Given the description of an element on the screen output the (x, y) to click on. 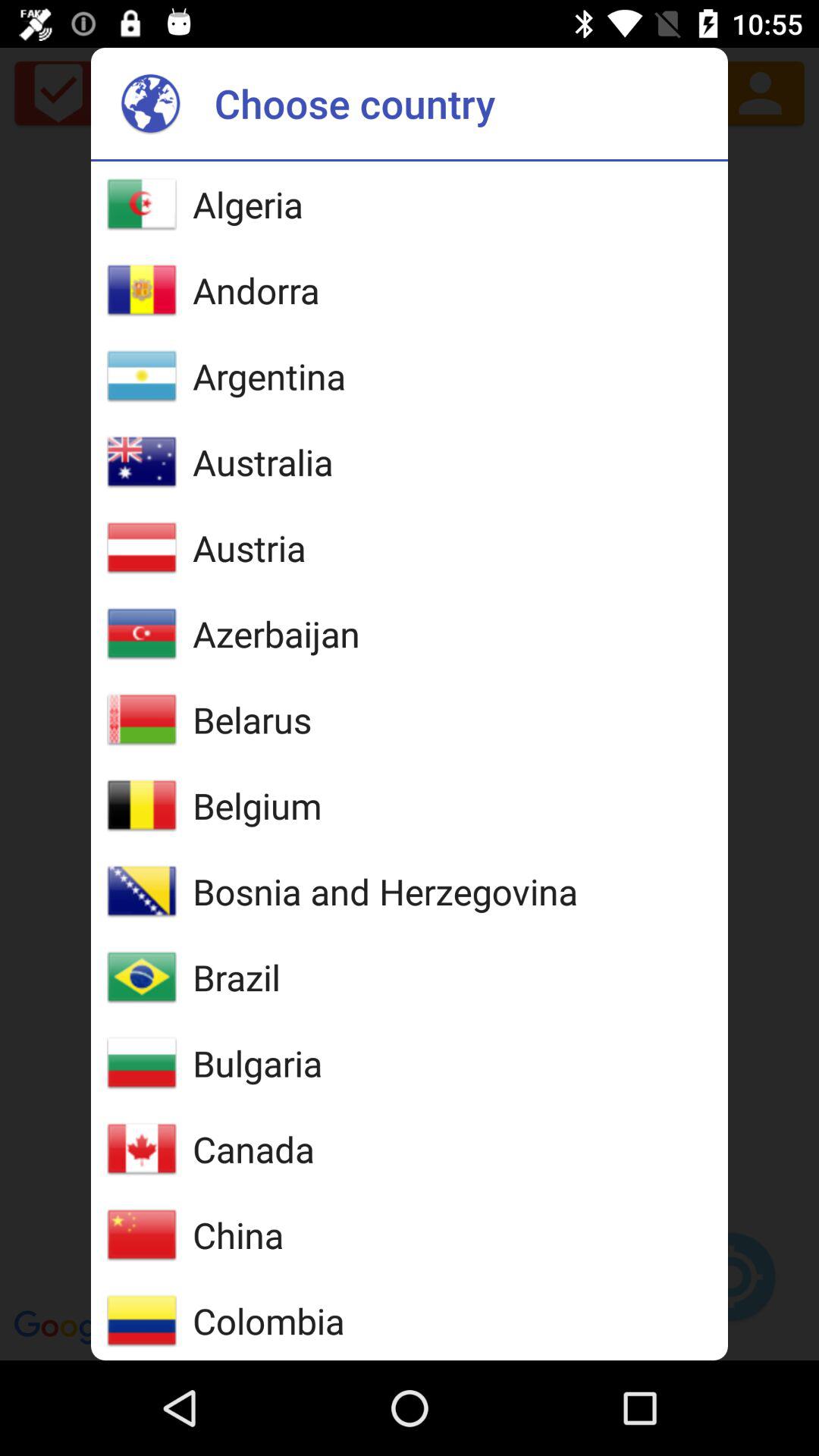
scroll to the algeria (247, 204)
